Given the description of an element on the screen output the (x, y) to click on. 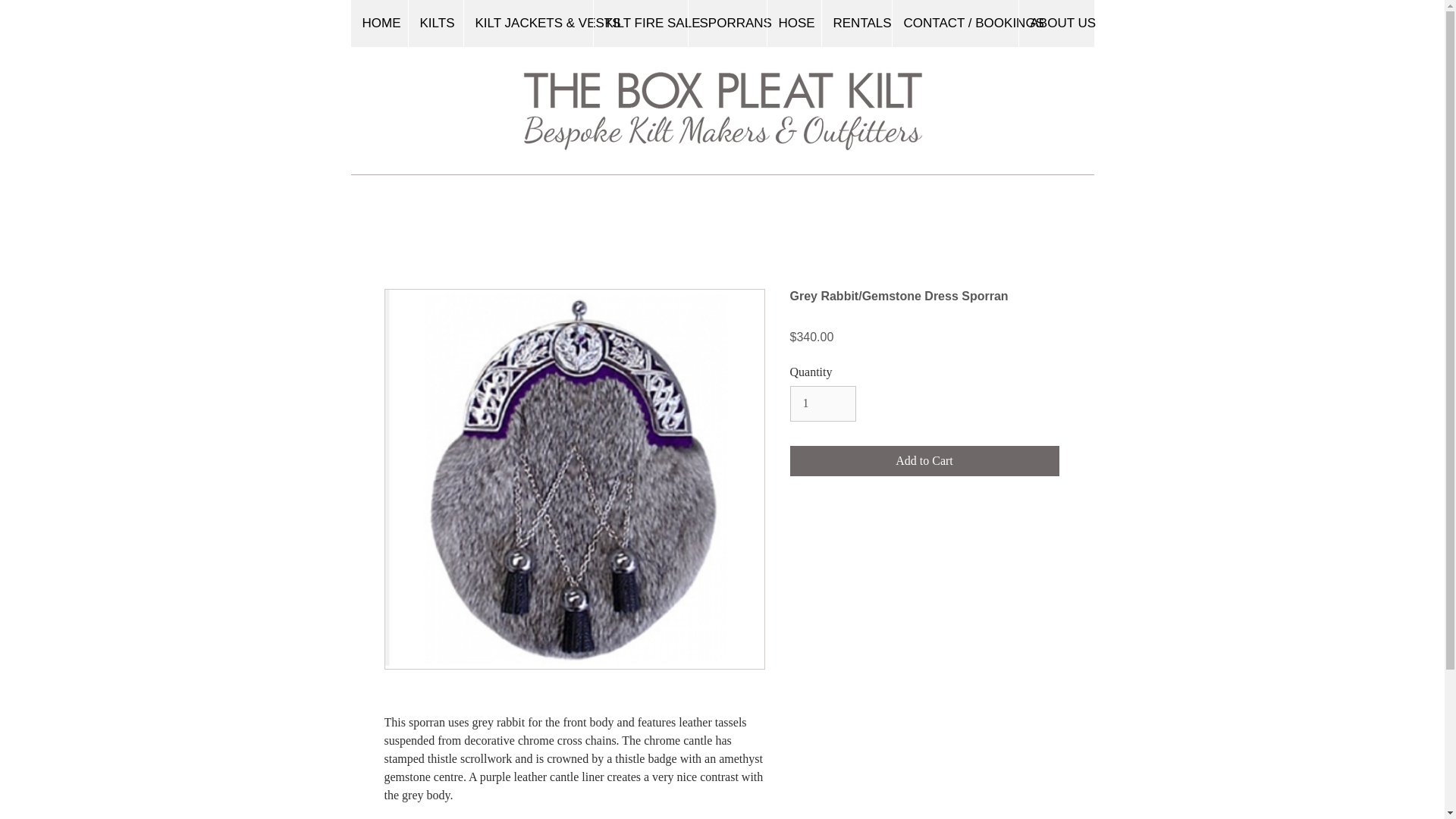
ABOUT US (1055, 23)
Add to Cart (924, 460)
HOME (378, 23)
KILTS (435, 23)
HOSE (793, 23)
1 (823, 402)
RENTALS (856, 23)
SPORRANS (726, 23)
KILT FIRE SALE (639, 23)
